Given the description of an element on the screen output the (x, y) to click on. 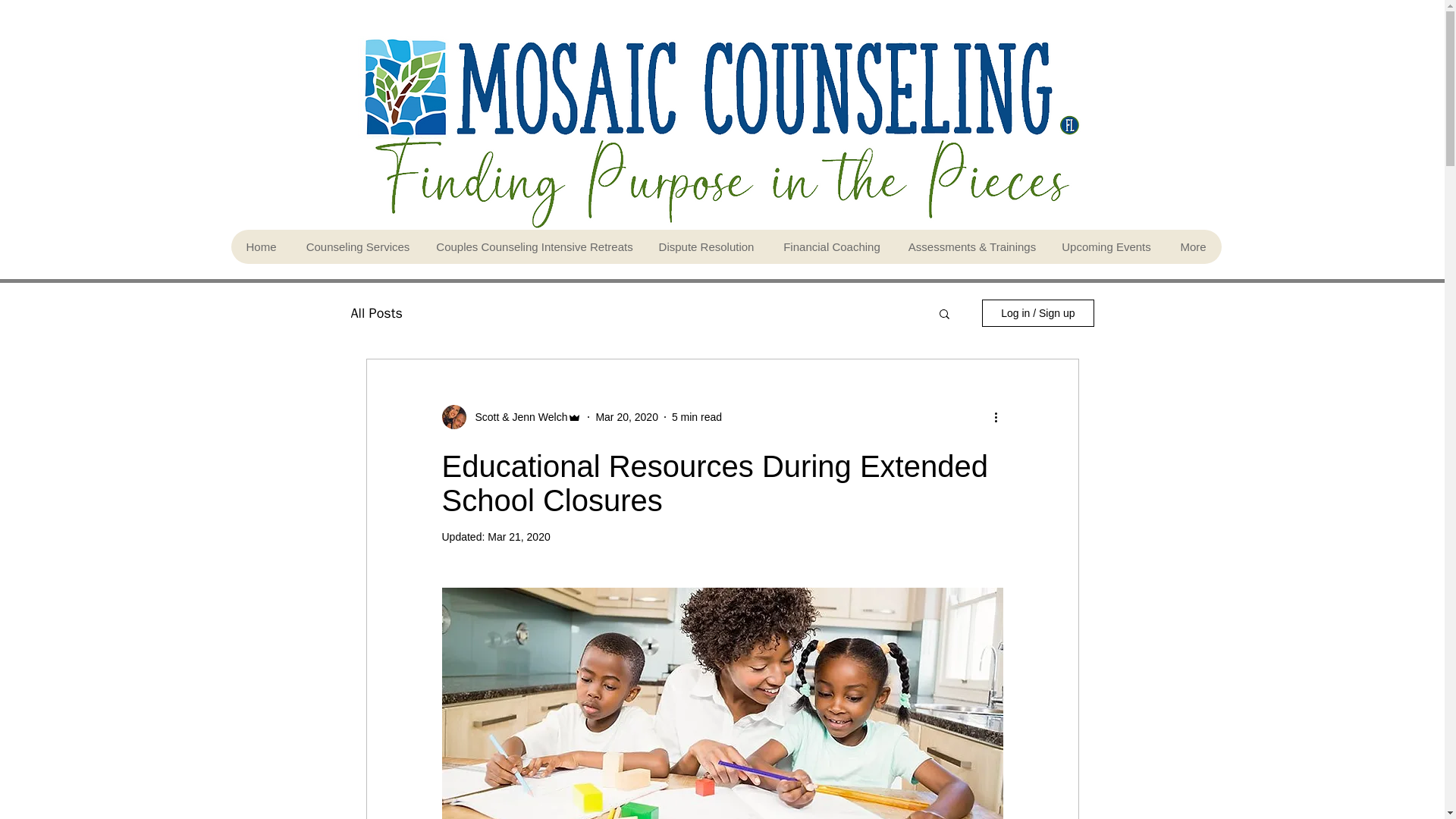
All Posts (375, 312)
Mar 21, 2020 (518, 536)
Upcoming Events (1106, 246)
5 min read (696, 417)
Couples Counseling Intensive Retreats (534, 246)
Dispute Resolution (706, 246)
Mar 20, 2020 (626, 417)
Financial Coaching (831, 246)
Home (260, 246)
Counseling Services (357, 246)
